Given the description of an element on the screen output the (x, y) to click on. 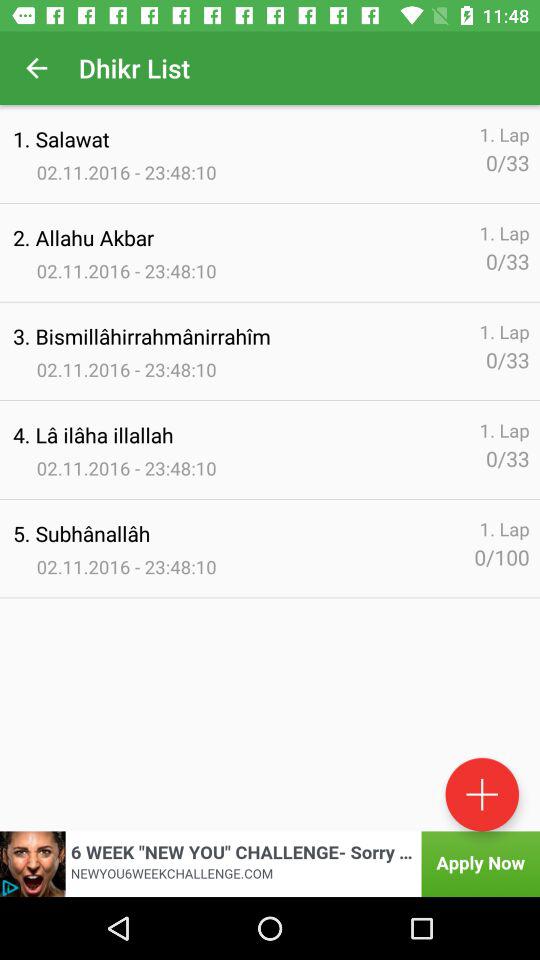
press the item above the 1. salawat (36, 68)
